Given the description of an element on the screen output the (x, y) to click on. 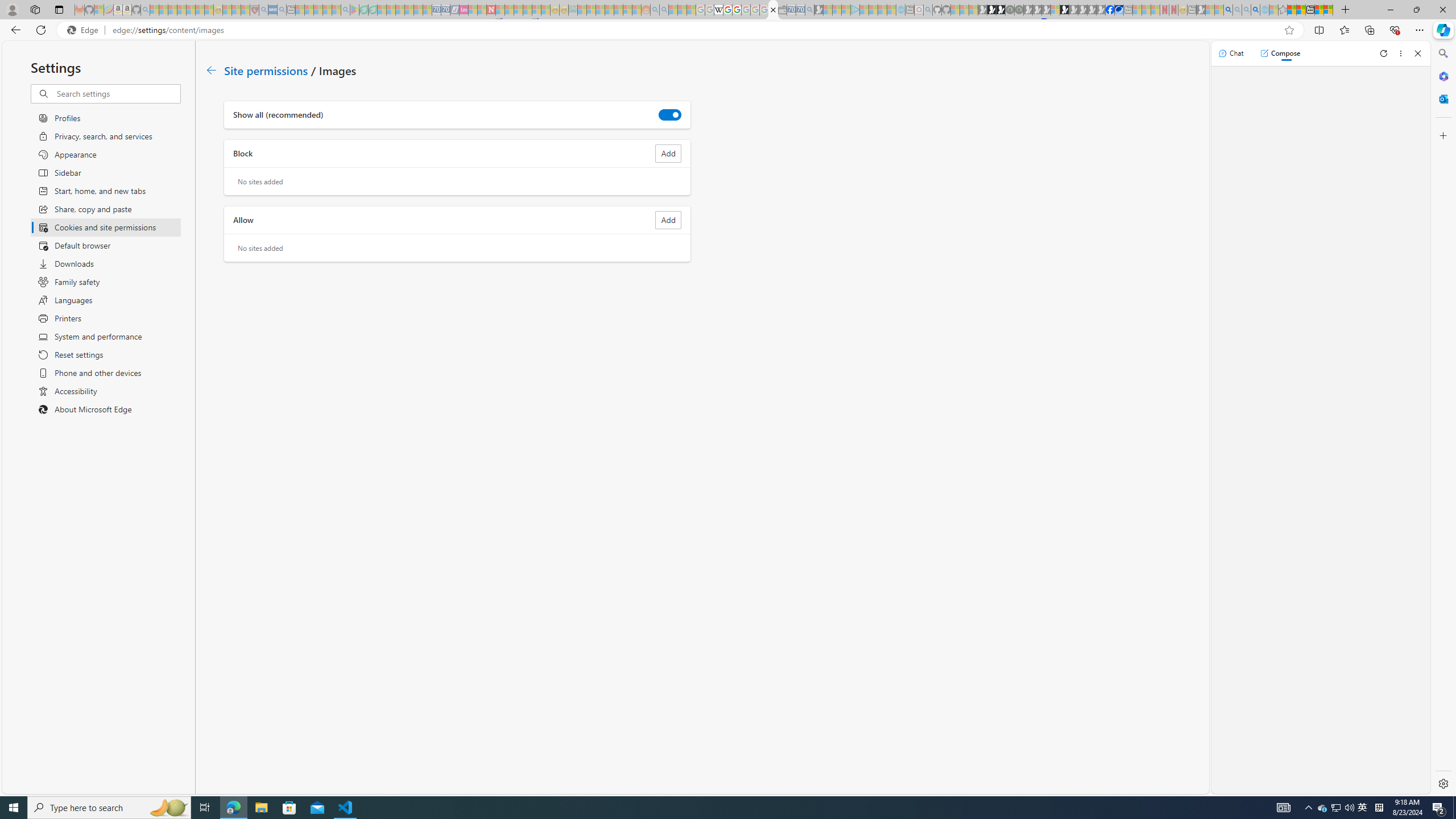
Show all (recommended) (669, 114)
Class: c01182 (210, 70)
Bing AI - Search (1227, 9)
Google Chrome Internet Browser Download - Search Images (1255, 9)
